Given the description of an element on the screen output the (x, y) to click on. 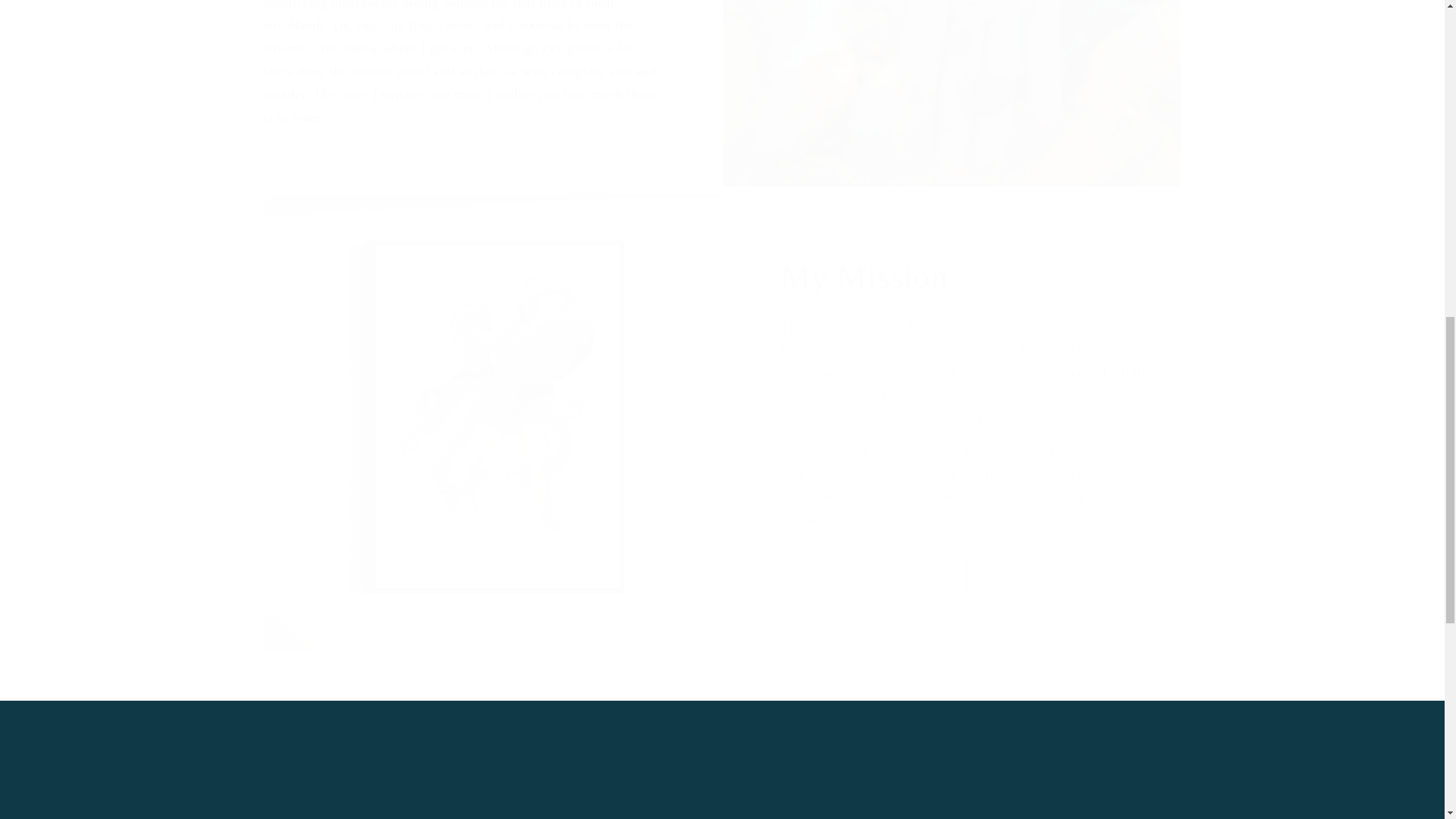
Browse my online shop (873, 575)
